Given the description of an element on the screen output the (x, y) to click on. 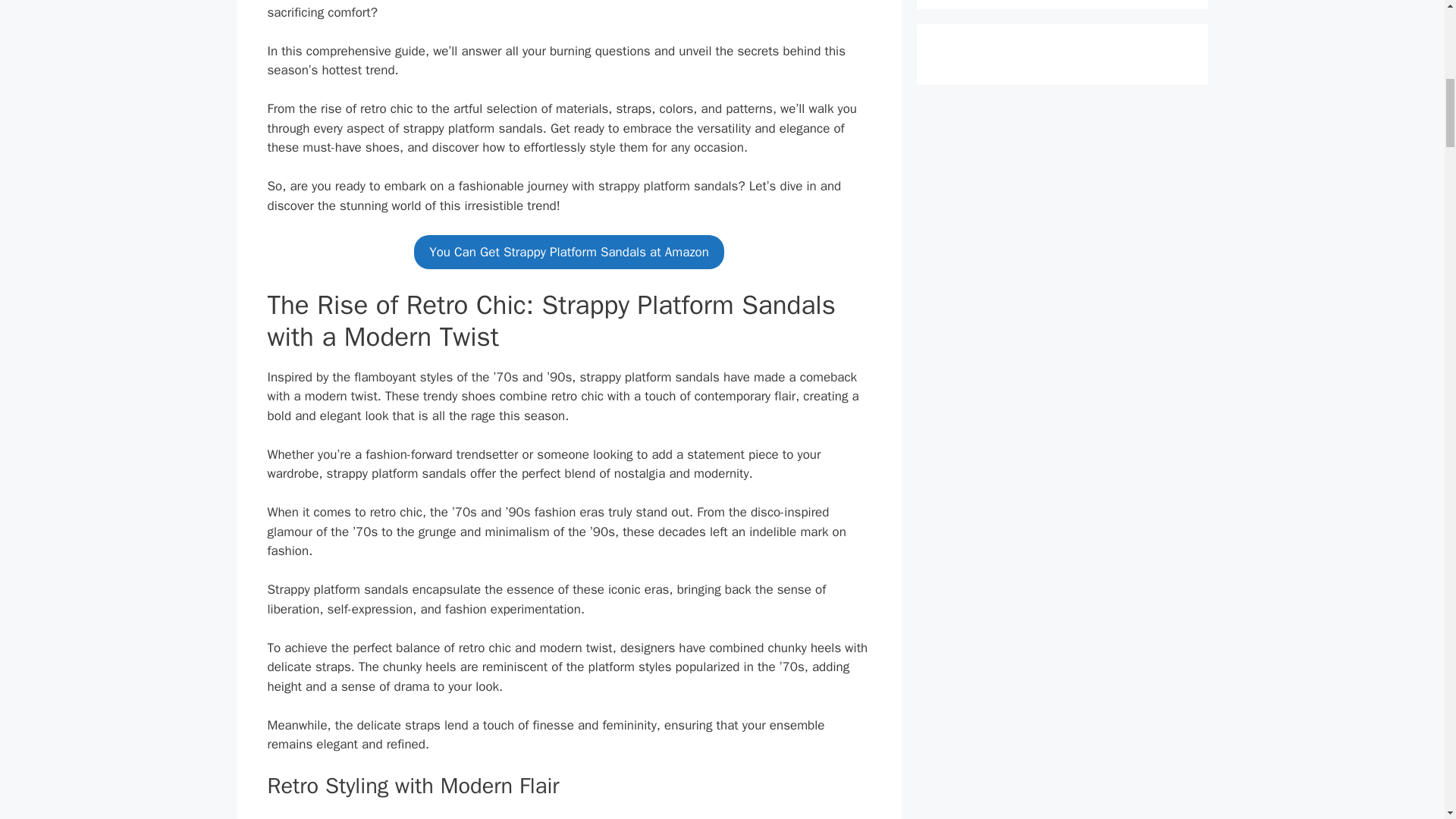
You Can Get Strappy Platform Sandals at Amazon (568, 252)
